Given the description of an element on the screen output the (x, y) to click on. 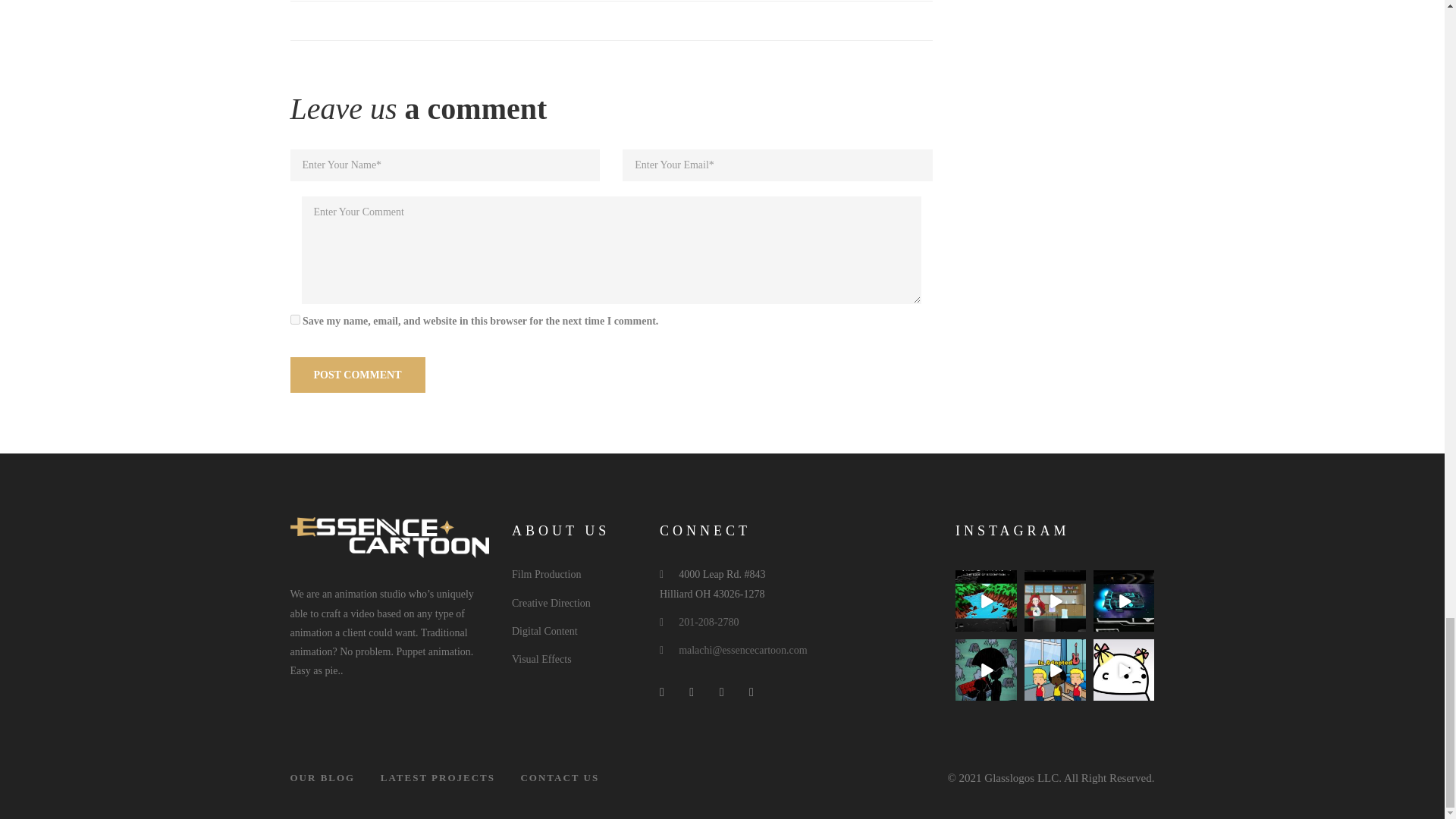
Post Comment (357, 375)
yes (294, 319)
